Given the description of an element on the screen output the (x, y) to click on. 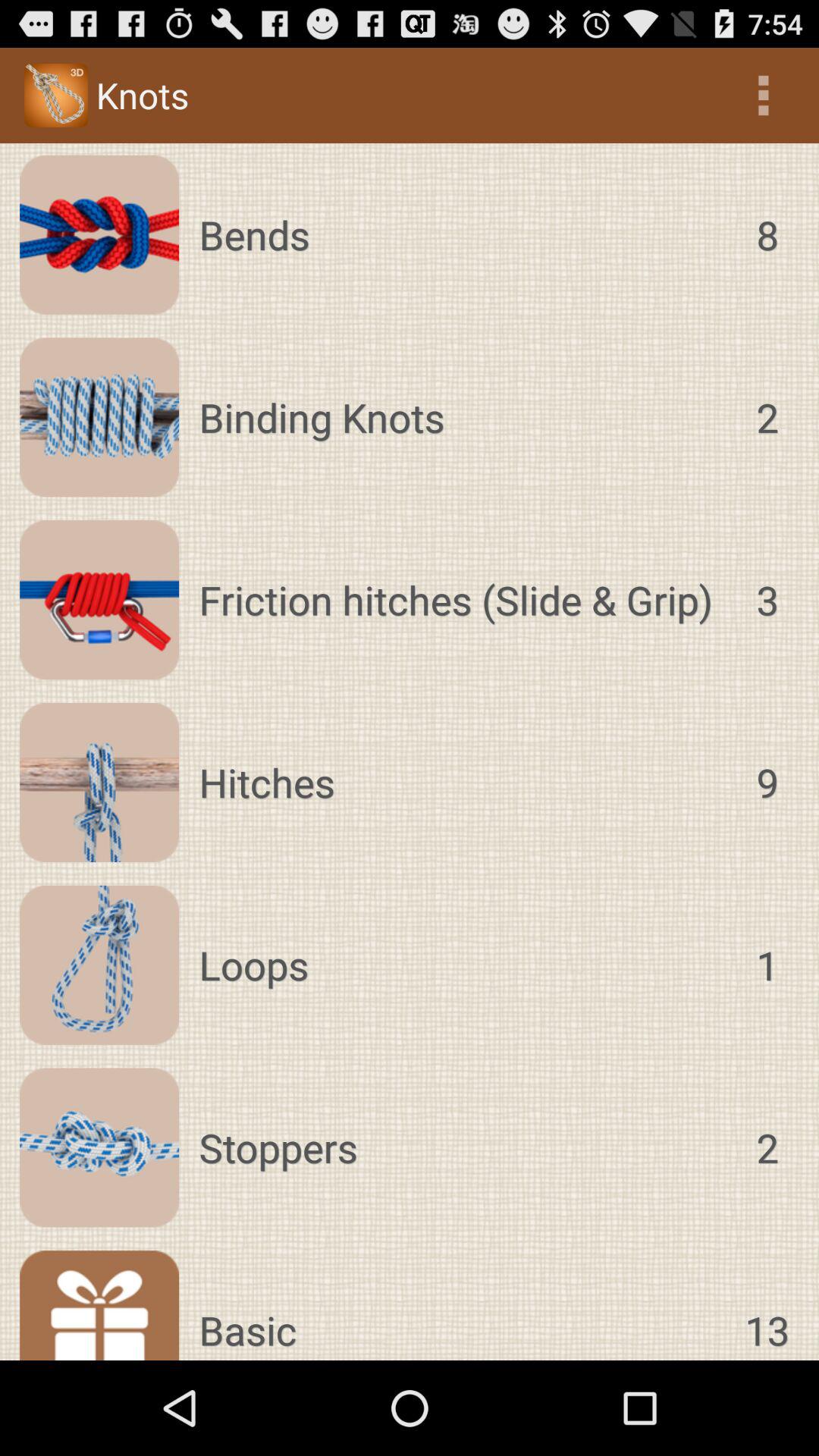
select app below bends icon (463, 417)
